Given the description of an element on the screen output the (x, y) to click on. 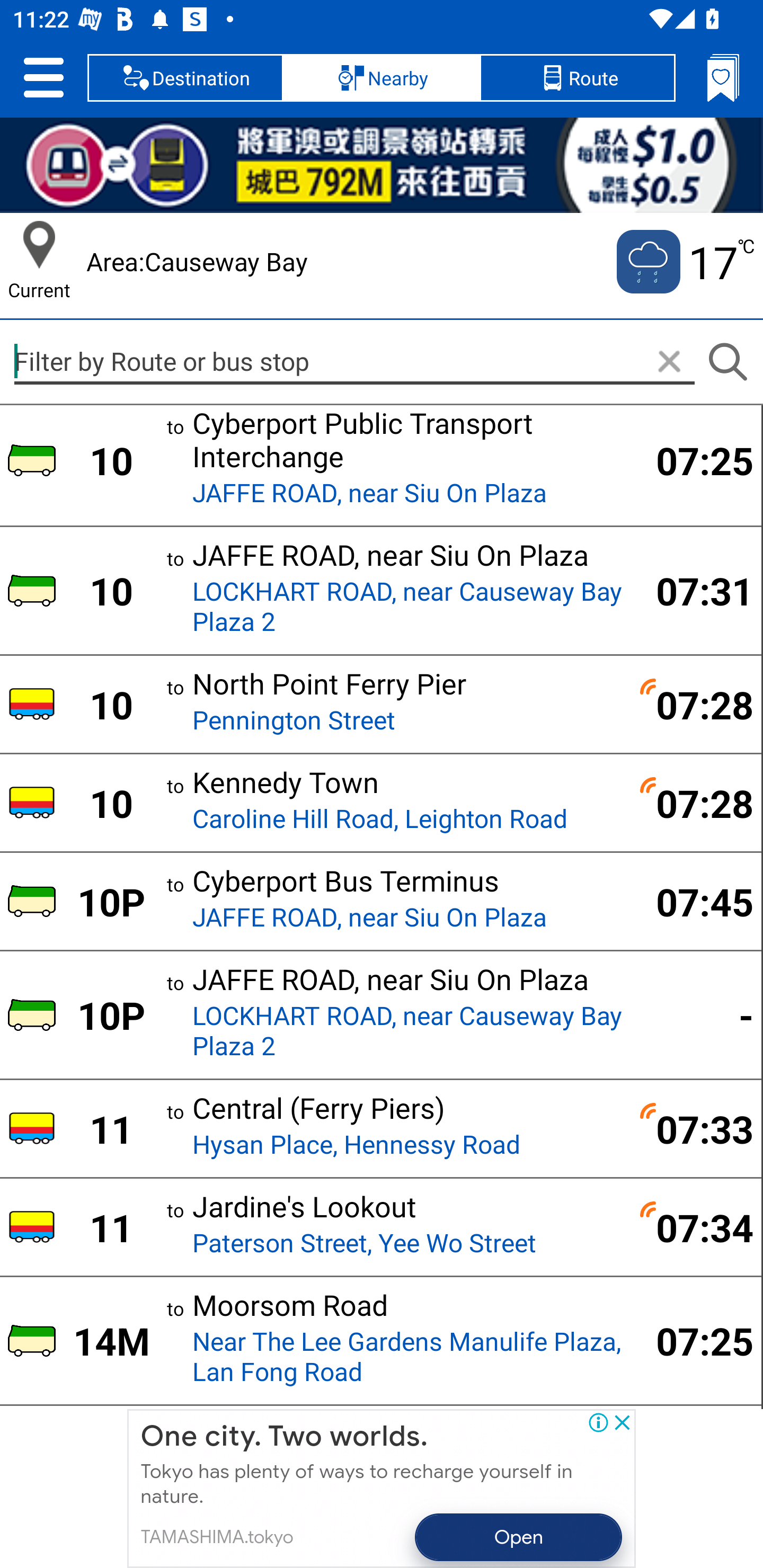
Destination (185, 77)
Nearby, selected (381, 77)
Route (577, 77)
Bookmarks (723, 77)
Setting (43, 77)
792M BRI (381, 165)
Current Location (38, 244)
Current temputure is  17  no 17 ℃ (684, 261)
Filter by Route or bus stop (354, 361)
Search (727, 362)
Clear (669, 361)
07:25 (693, 460)
07:31 (693, 590)
07:28 (693, 704)
07:28 (693, 802)
07:45 (693, 900)
- (693, 1015)
07:33 (693, 1128)
07:34 (693, 1226)
07:25 (693, 1340)
One city. Two worlds. (283, 1437)
Open (519, 1537)
TAMASHIMA.tokyo (216, 1537)
